Given the description of an element on the screen output the (x, y) to click on. 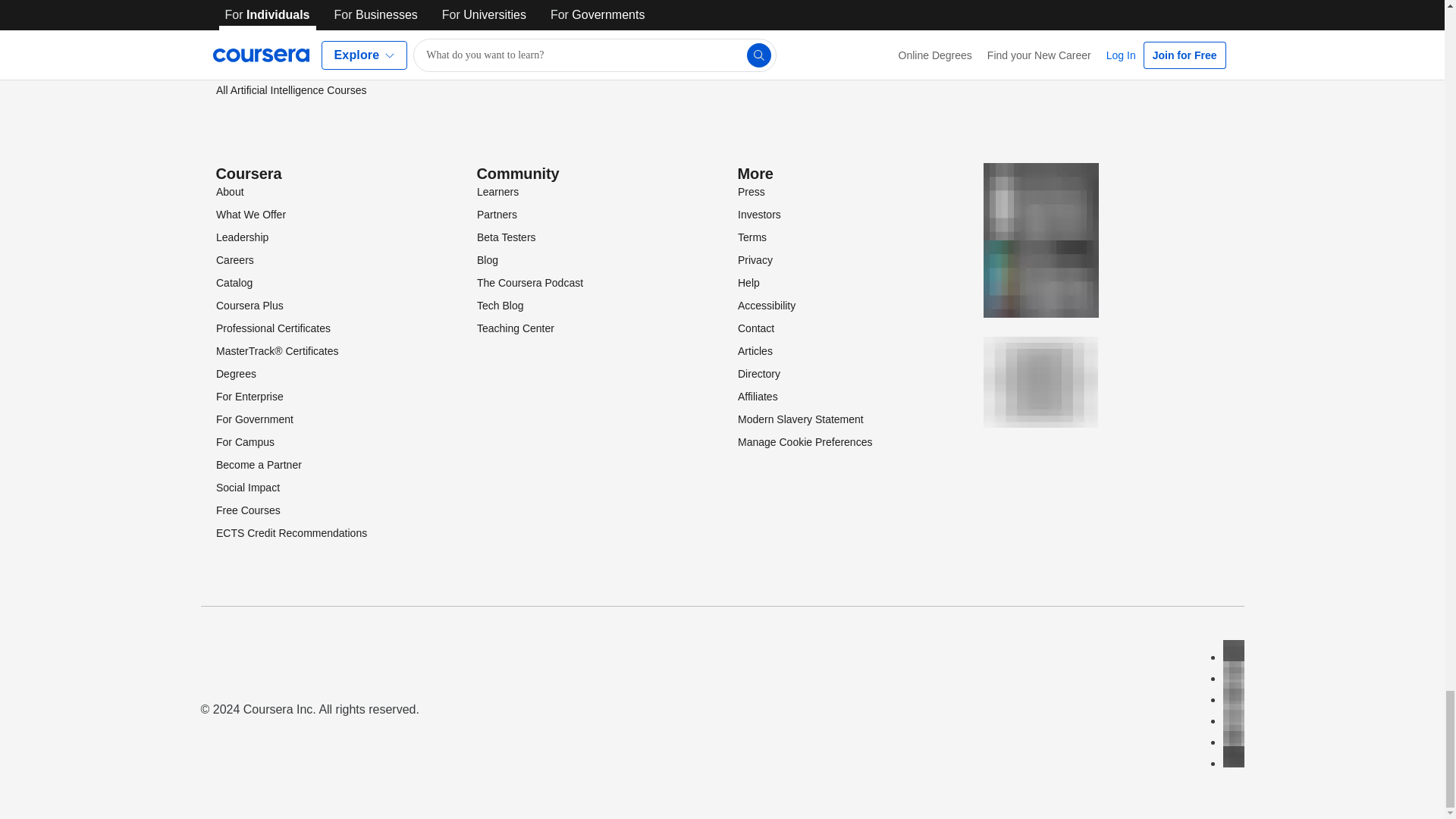
IBM AI Product Manager Professional Certificate (303, 6)
Stanford Machine Learning Specialization (312, 29)
Vanderbilt Prompt Engineering for ChatGPT Course (318, 59)
All Artificial Intelligence Courses (290, 90)
